Given the description of an element on the screen output the (x, y) to click on. 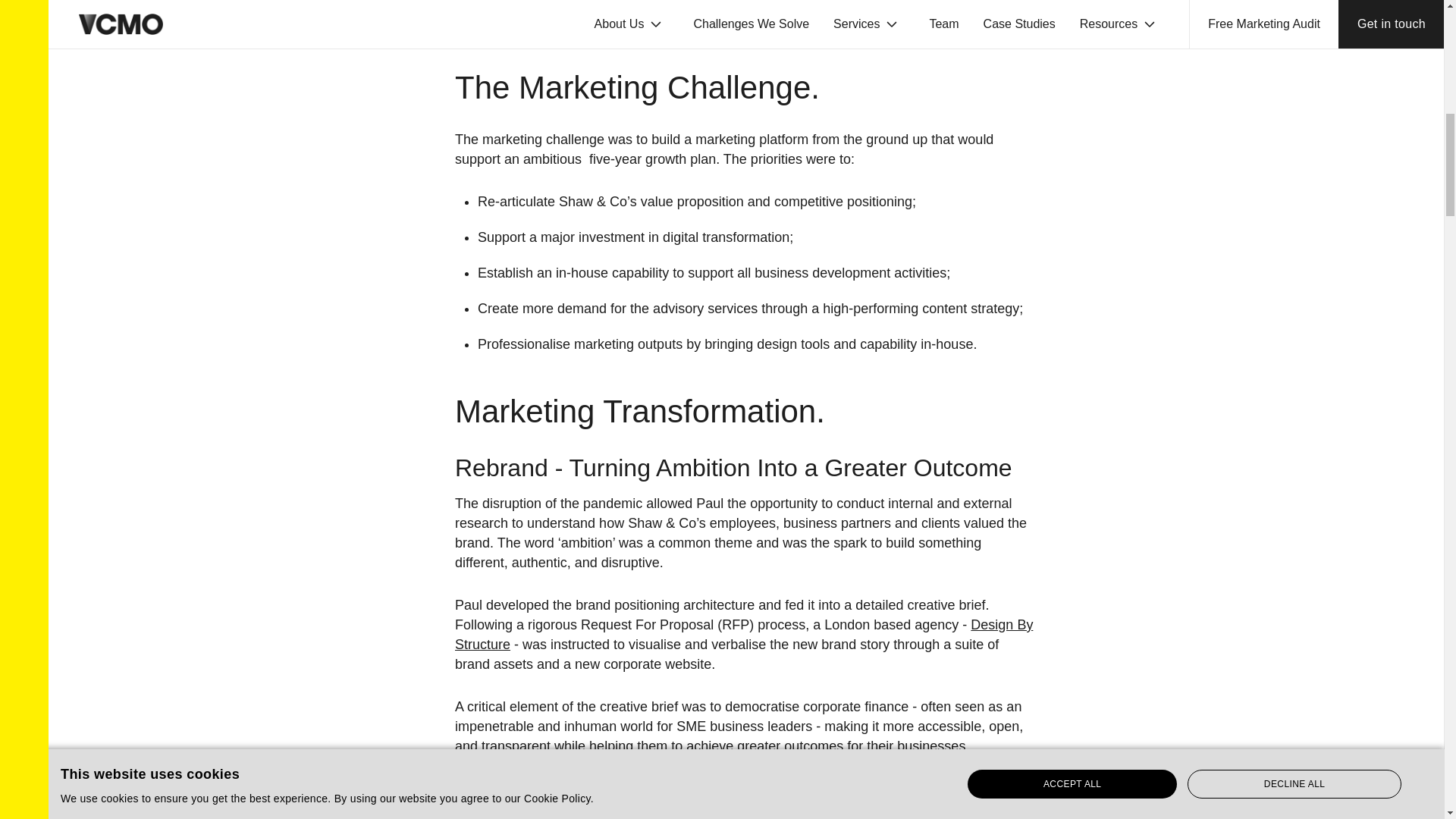
Paul Mills (630, 36)
Design By Structure (743, 634)
